Given the description of an element on the screen output the (x, y) to click on. 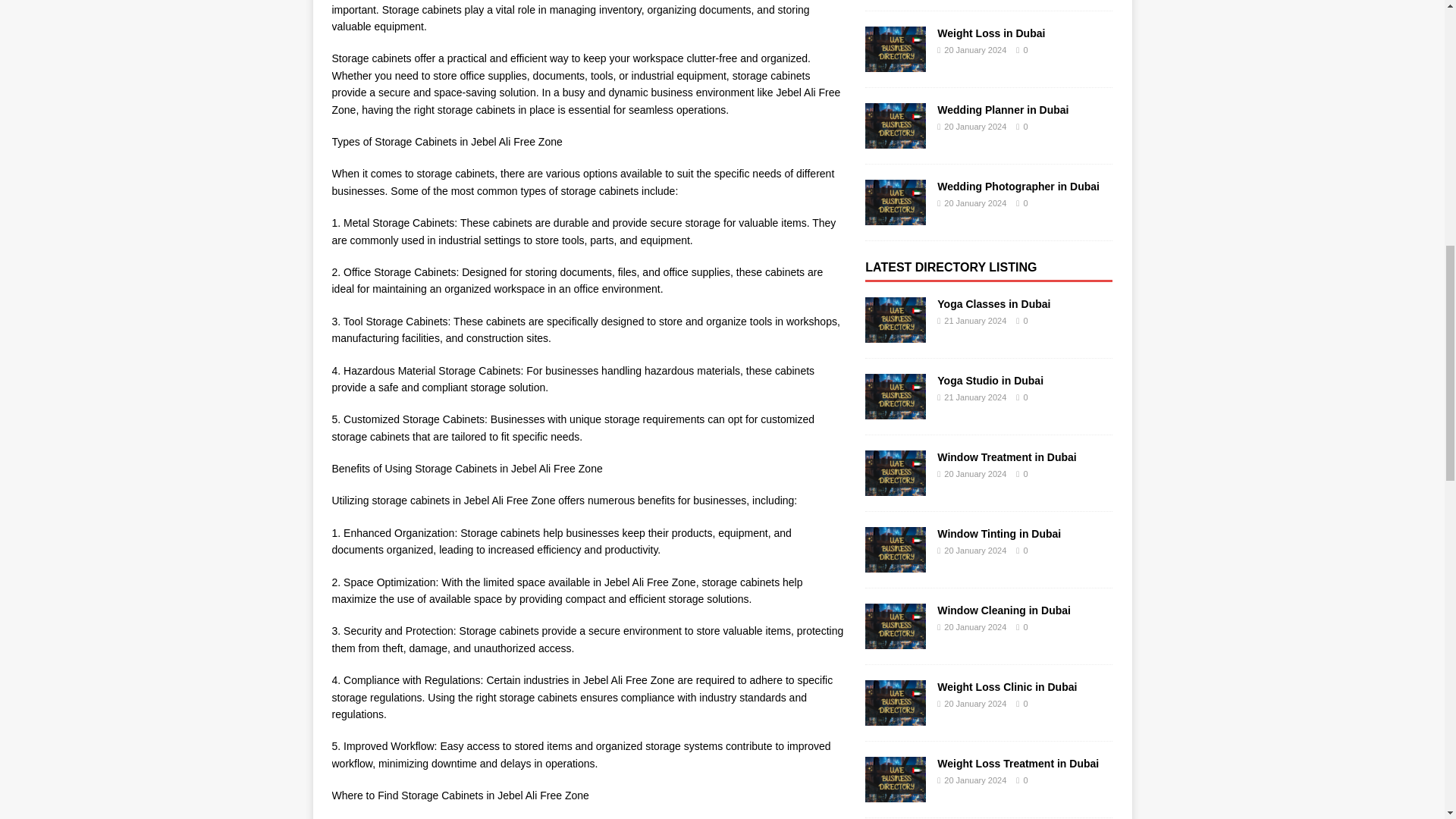
Weight Loss in Dubai (895, 63)
